Given the description of an element on the screen output the (x, y) to click on. 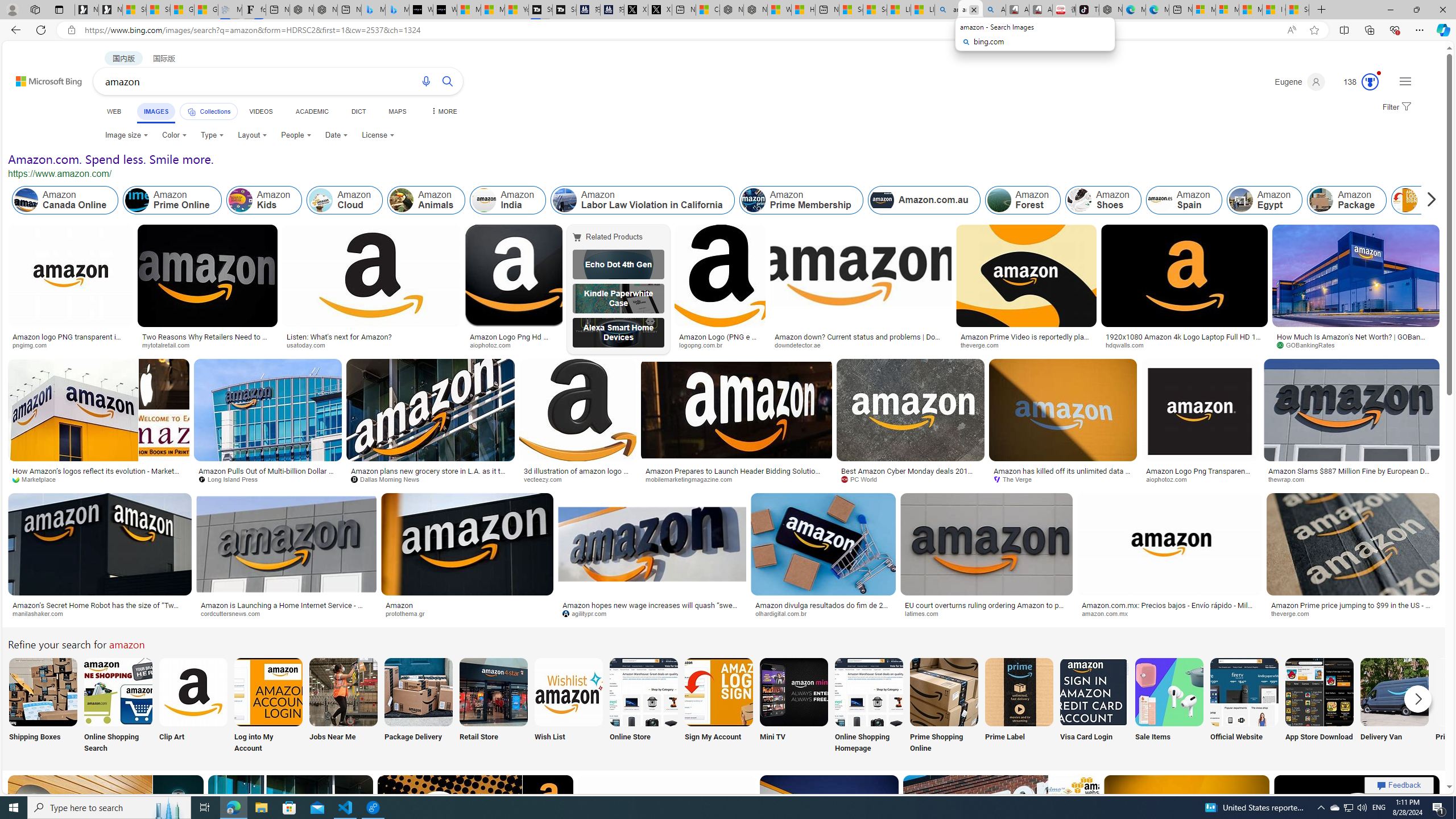
Amazon Package Delivery Package Delivery (418, 706)
Back to Bing search (41, 78)
Amazon.com. Spend less. Smile more. (110, 158)
Amazon Online Shopping Homepage (868, 691)
Amazon Mini TV (794, 691)
Kindle Paperwhite Case (617, 298)
Settings and quick links (1404, 80)
Amazon Echo Dot 4th Gen (617, 264)
agilitypr.com (651, 613)
